Given the description of an element on the screen output the (x, y) to click on. 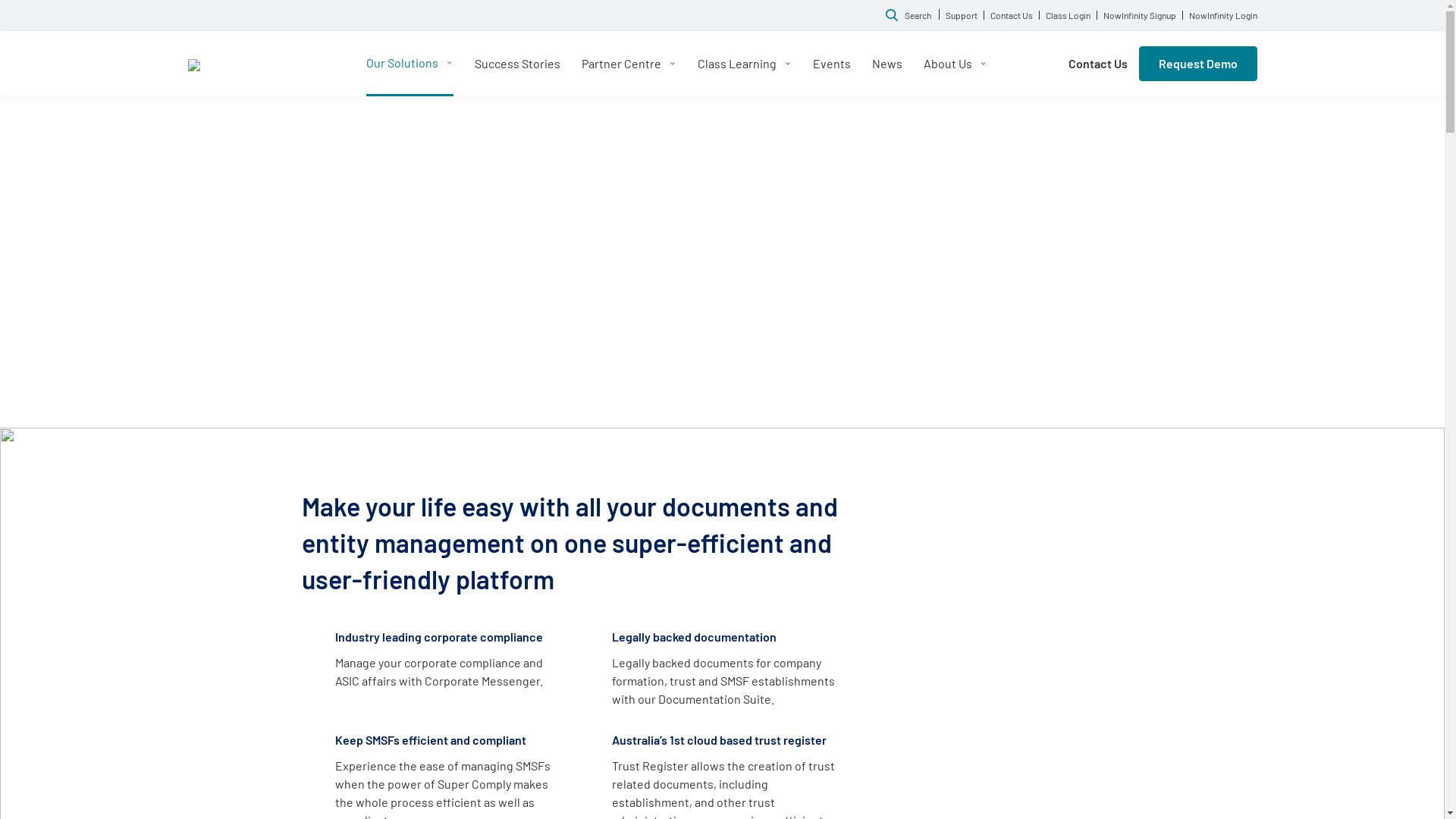
NowInfinity Login Element type: text (1220, 14)
News Element type: text (887, 63)
Request Demo Element type: text (1198, 63)
NowInfinity Signup Element type: text (1139, 14)
Partner Centre Element type: text (628, 63)
Class Login Element type: text (1067, 14)
Events Element type: text (831, 63)
Contact Us Element type: text (1096, 63)
Class Learning Element type: text (744, 63)
Support Element type: text (960, 14)
About Us Element type: text (955, 63)
Our Solutions Element type: text (408, 62)
Contact Us Element type: text (1011, 14)
Success Stories Element type: text (517, 63)
